Given the description of an element on the screen output the (x, y) to click on. 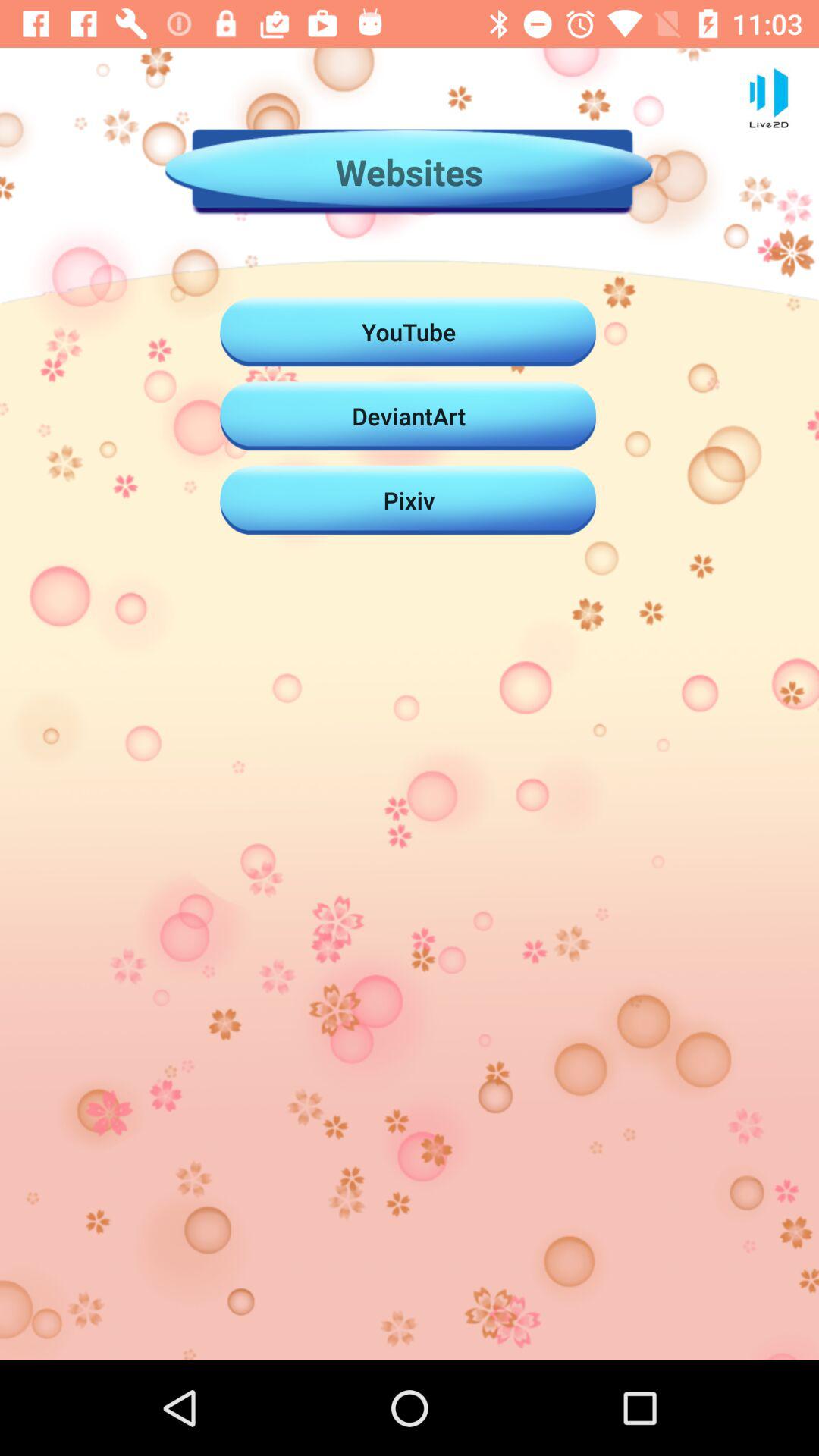
flip to deviantart (409, 416)
